Given the description of an element on the screen output the (x, y) to click on. 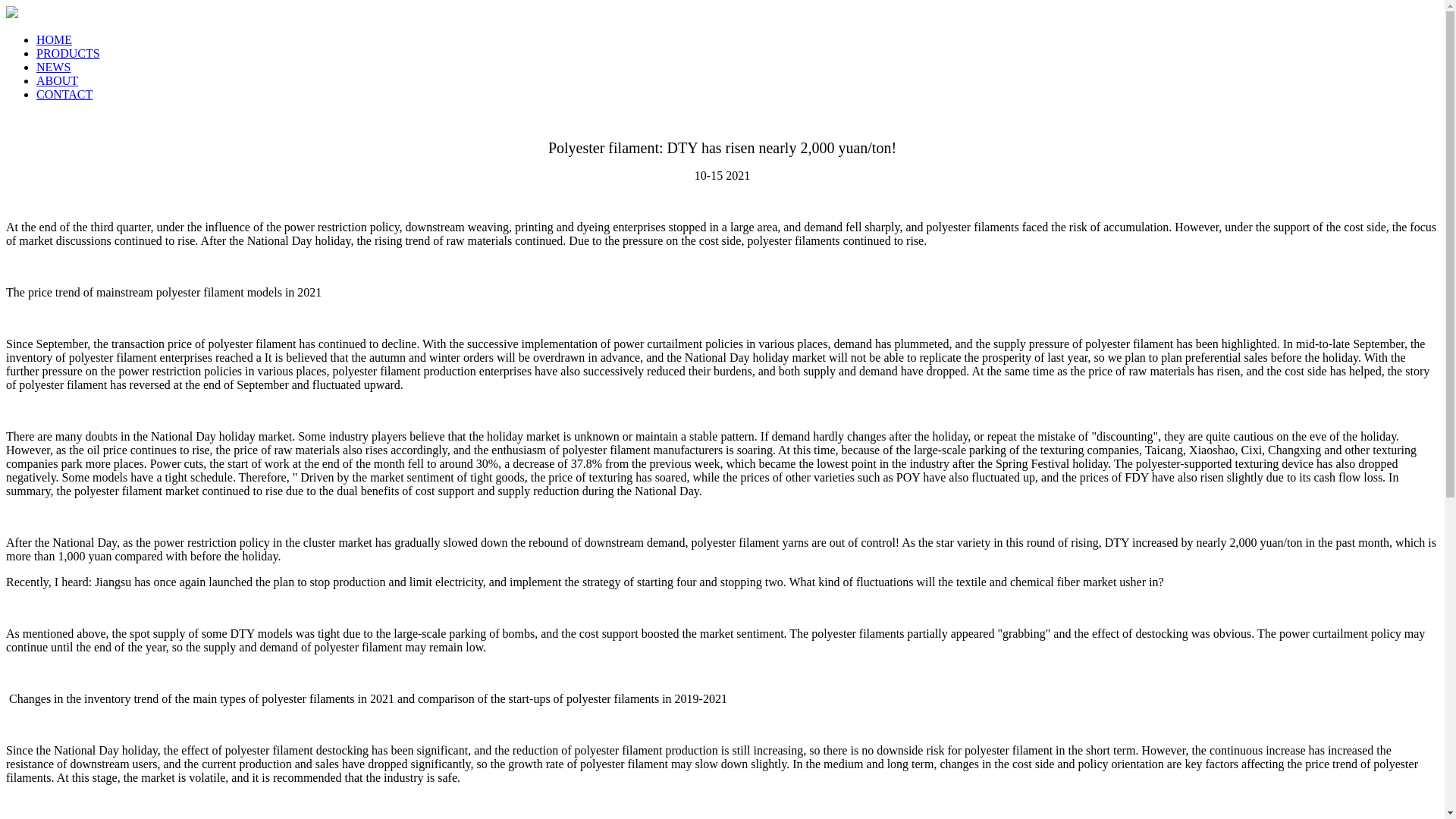
NEWS (52, 66)
CONTACT (64, 93)
PRODUCTS (68, 52)
ABOUT (57, 80)
HOME (53, 39)
